Given the description of an element on the screen output the (x, y) to click on. 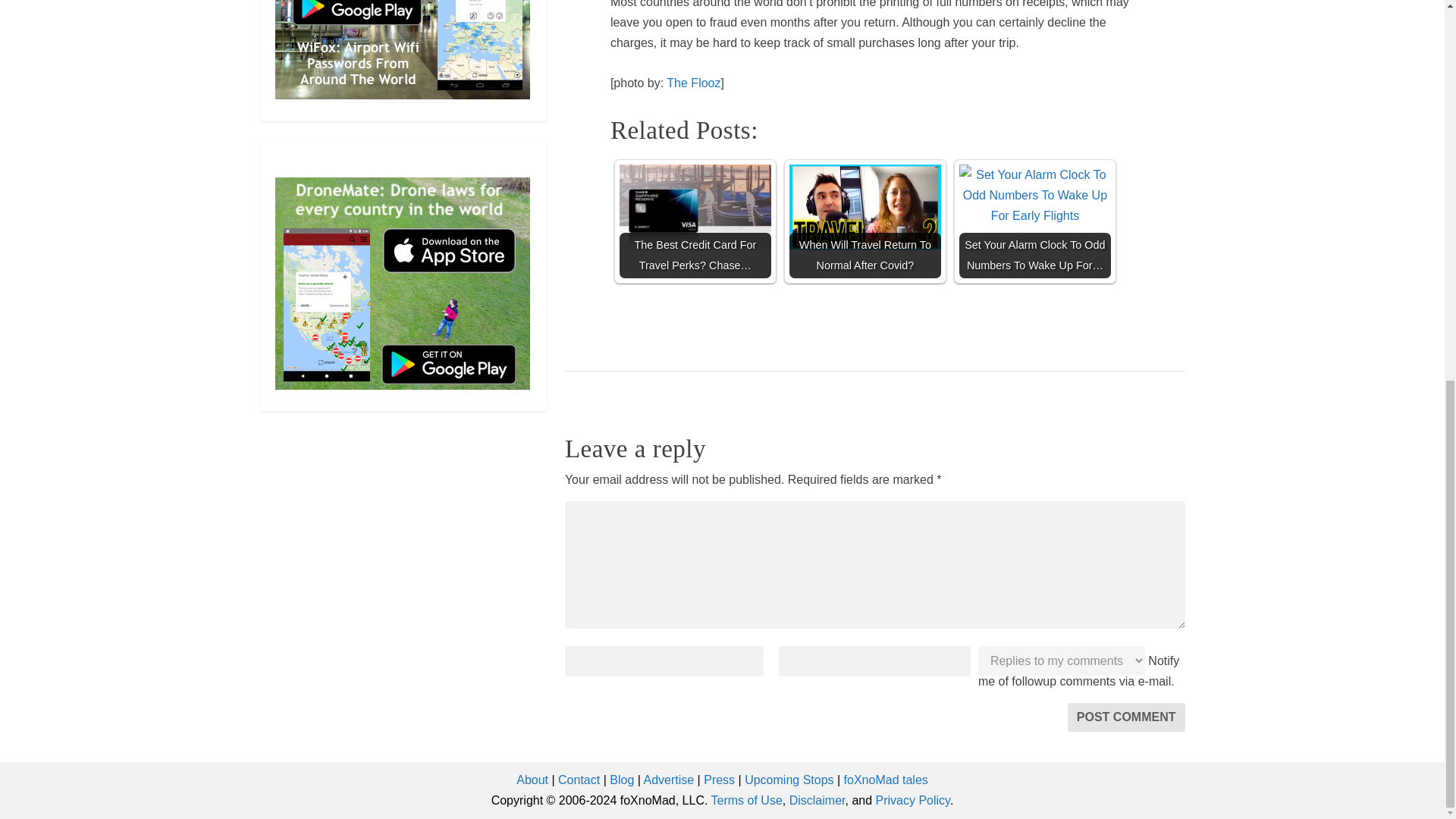
When Will Travel Return To Normal After Covid? (864, 207)
Post Comment (1126, 717)
When Will Travel Return To Normal After Covid? (864, 221)
Post Comment (1126, 717)
The Flooz (693, 82)
